Given the description of an element on the screen output the (x, y) to click on. 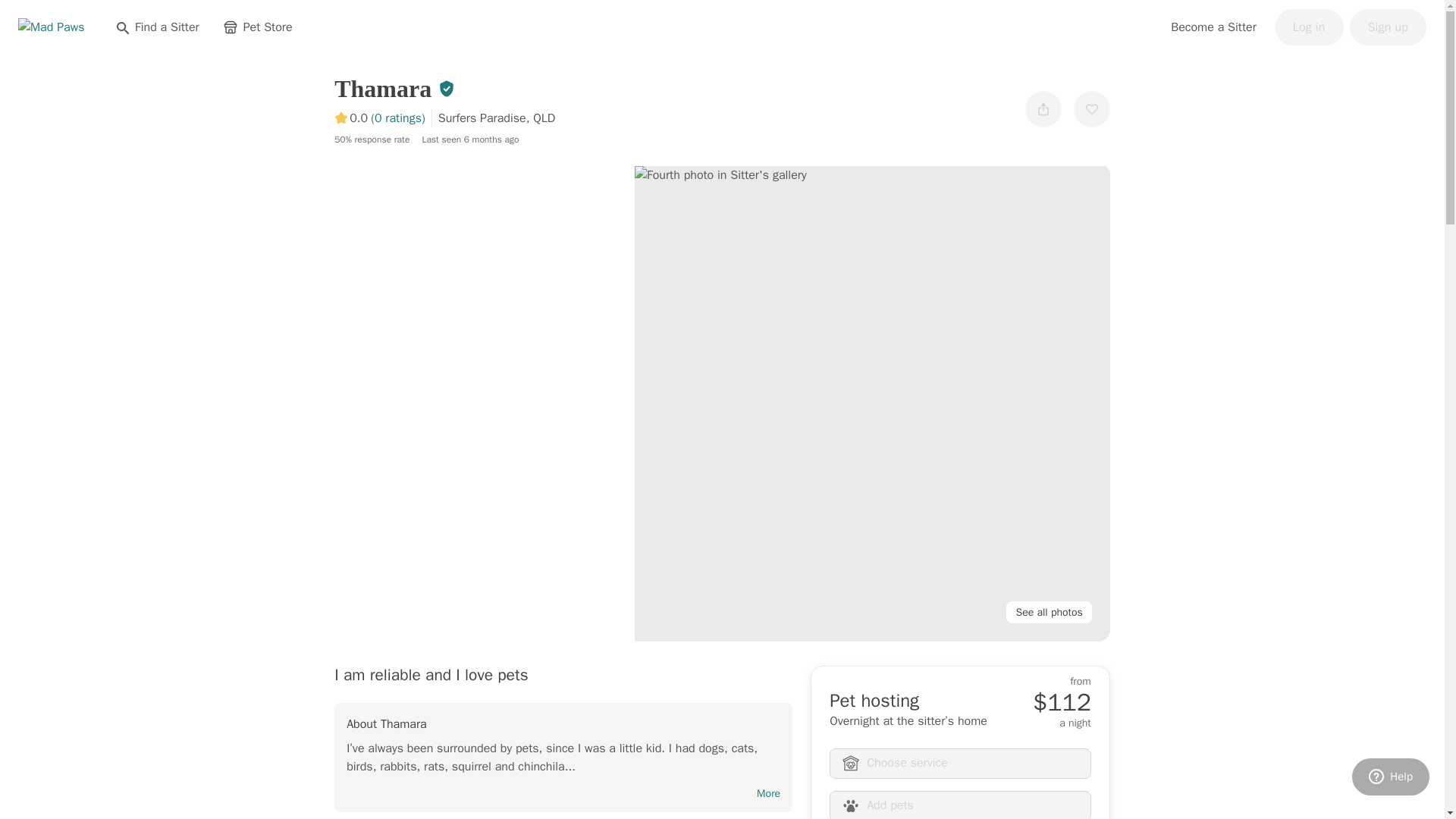
Sign up (1387, 27)
Pet Store (257, 27)
Find a Sitter (157, 27)
Log in (1309, 27)
Become a Sitter (1213, 27)
See all photos (1048, 612)
Help (1390, 776)
